Given the description of an element on the screen output the (x, y) to click on. 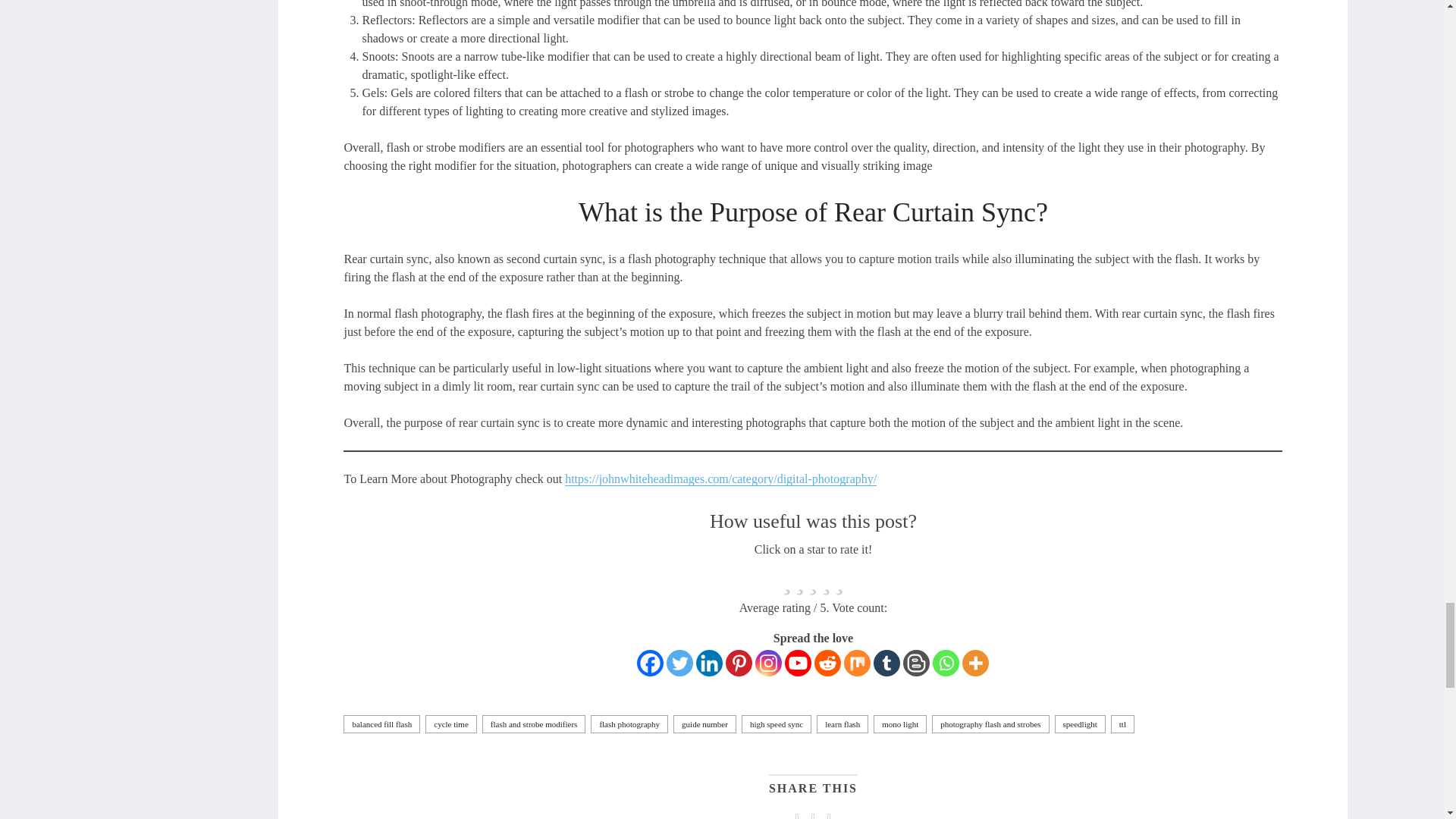
Twitter (679, 663)
Facebook (650, 663)
